Given the description of an element on the screen output the (x, y) to click on. 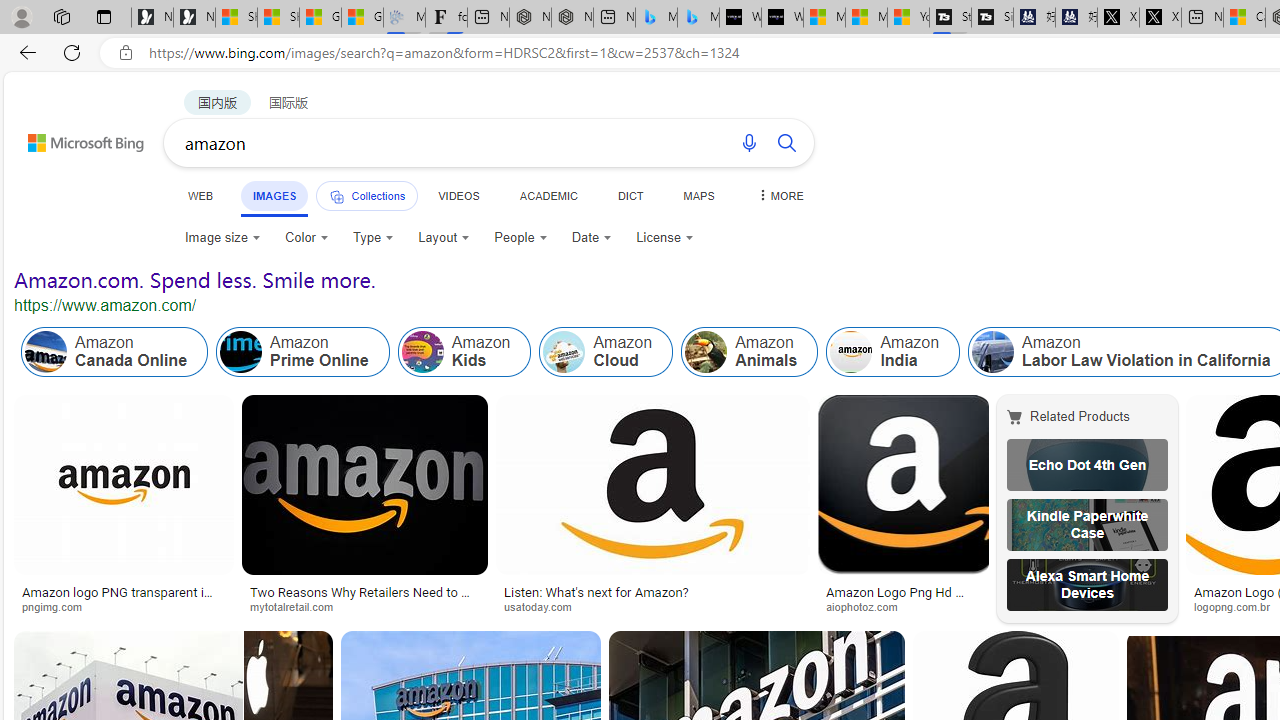
aiophotoz.com (902, 606)
pngimg.com (58, 605)
License (665, 237)
People (520, 237)
ACADEMIC (548, 195)
IMAGES (274, 196)
Back to Bing search (73, 138)
Listen: What's next for Amazon? (596, 592)
WEB (201, 195)
Color (305, 237)
Color (305, 237)
